Given the description of an element on the screen output the (x, y) to click on. 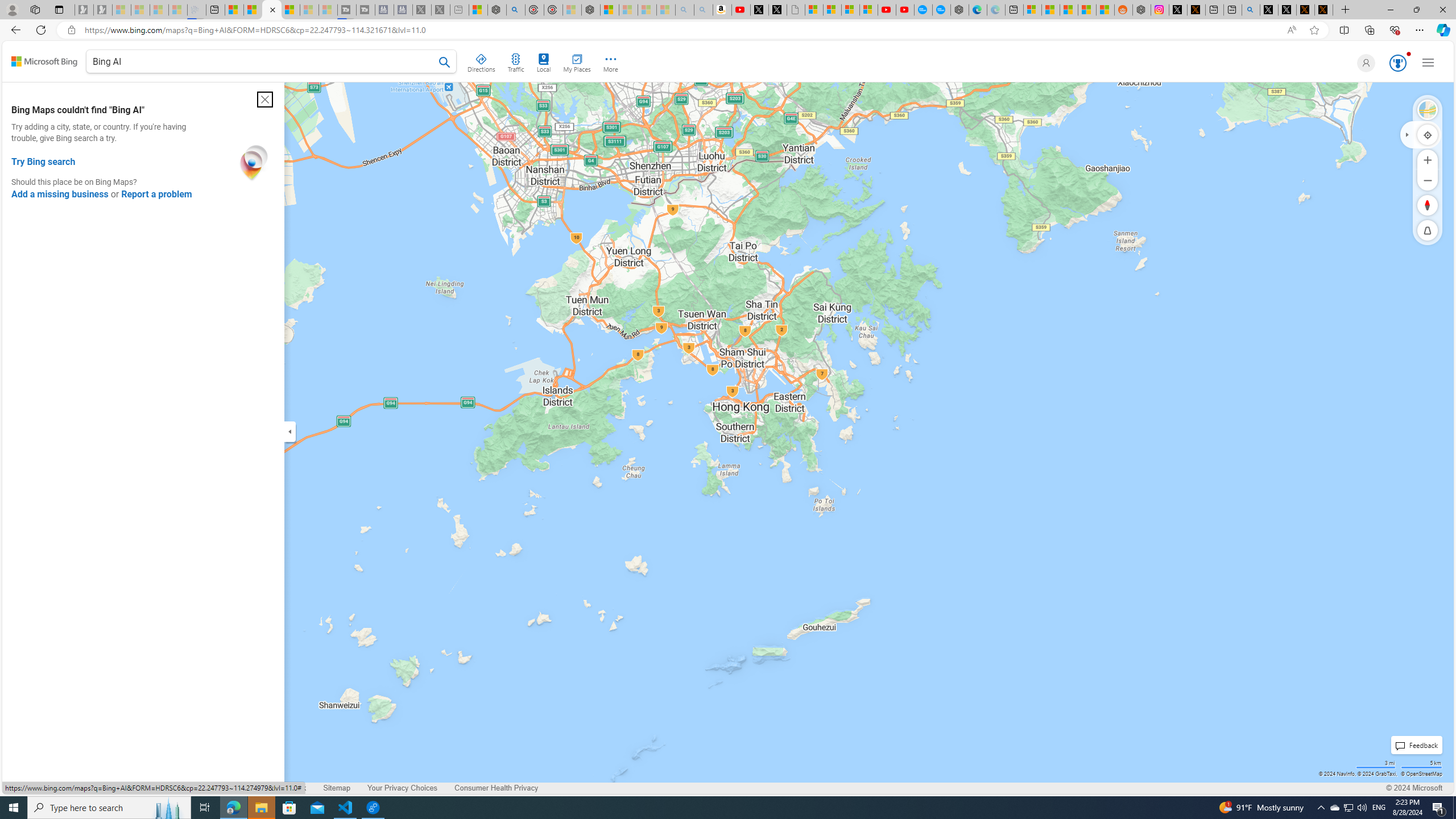
Microsoft Rewards 153 (1396, 63)
Advertise (145, 787)
More (610, 60)
Add a missing business (60, 194)
poe - Search (515, 9)
Rotate Right (1416, 205)
Local (543, 60)
Gloom - YouTube (887, 9)
Bing AI (270, 62)
My Places (576, 60)
Your Privacy Choices (402, 787)
